Given the description of an element on the screen output the (x, y) to click on. 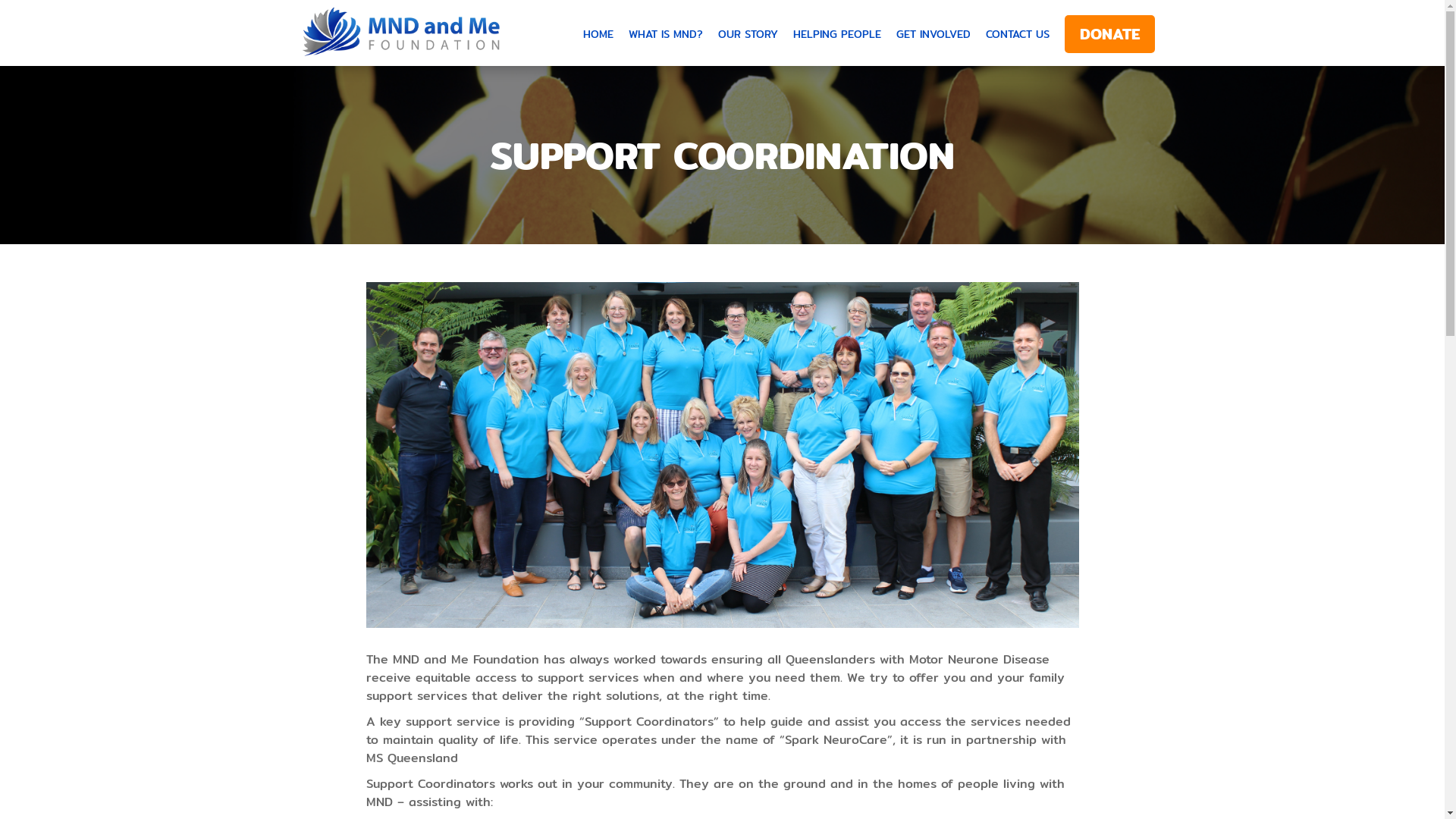
CONTACT US Element type: text (1017, 32)
GET INVOLVED Element type: text (933, 32)
OUR STORY Element type: text (746, 32)
DONATE Element type: text (1109, 34)
HELPING PEOPLE Element type: text (836, 32)
WHAT IS MND? Element type: text (664, 32)
HOME Element type: text (597, 32)
